Given the description of an element on the screen output the (x, y) to click on. 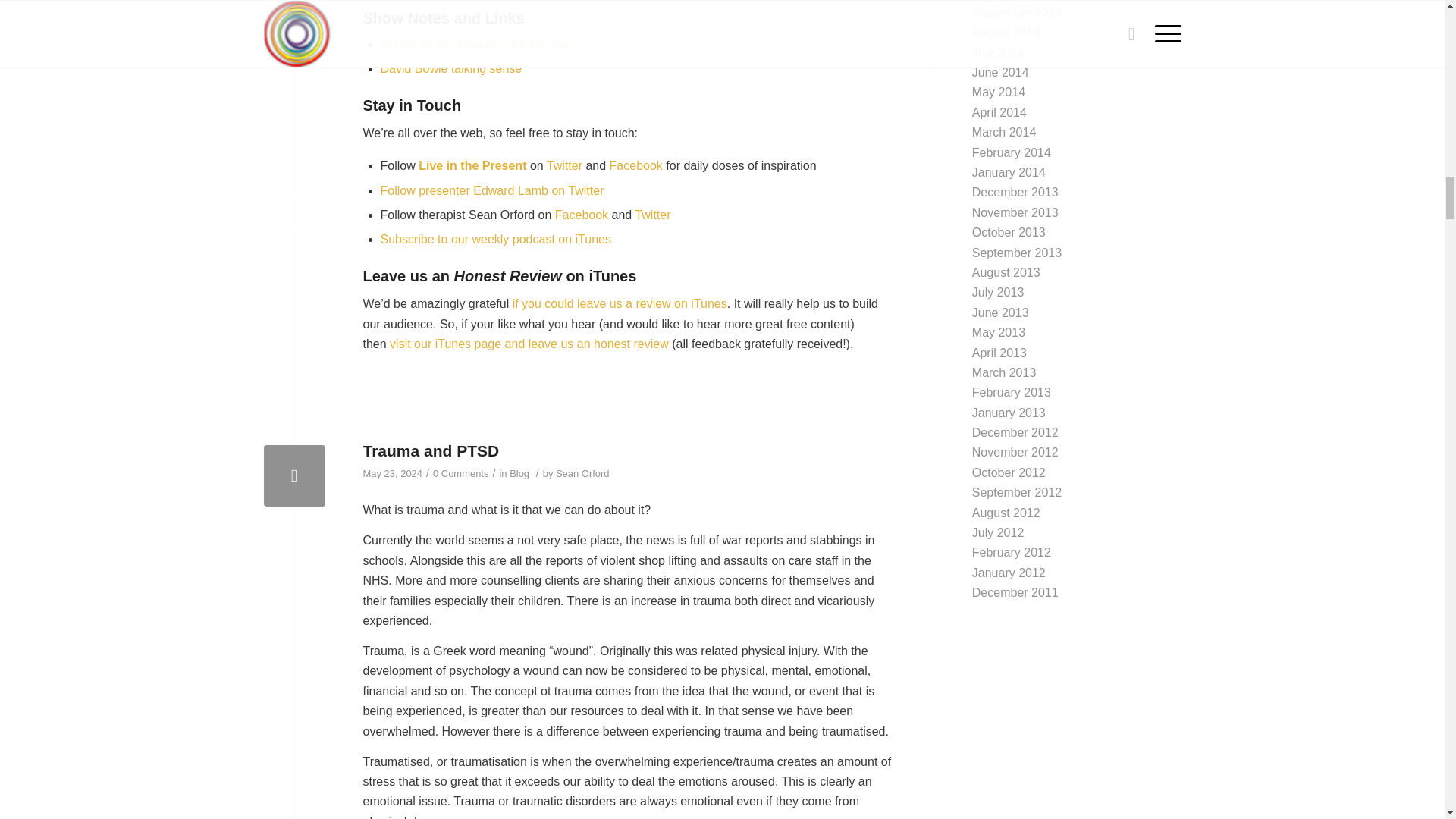
David Bowie talking sense (451, 68)
Twitter (564, 164)
Trauma and PTSD (293, 475)
Twitter (651, 214)
Follow presenter Edward Lamb on Twitter (492, 190)
Permanent Link: Trauma and PTSD (430, 450)
Facebook (581, 214)
Facebook (636, 164)
